Given the description of an element on the screen output the (x, y) to click on. 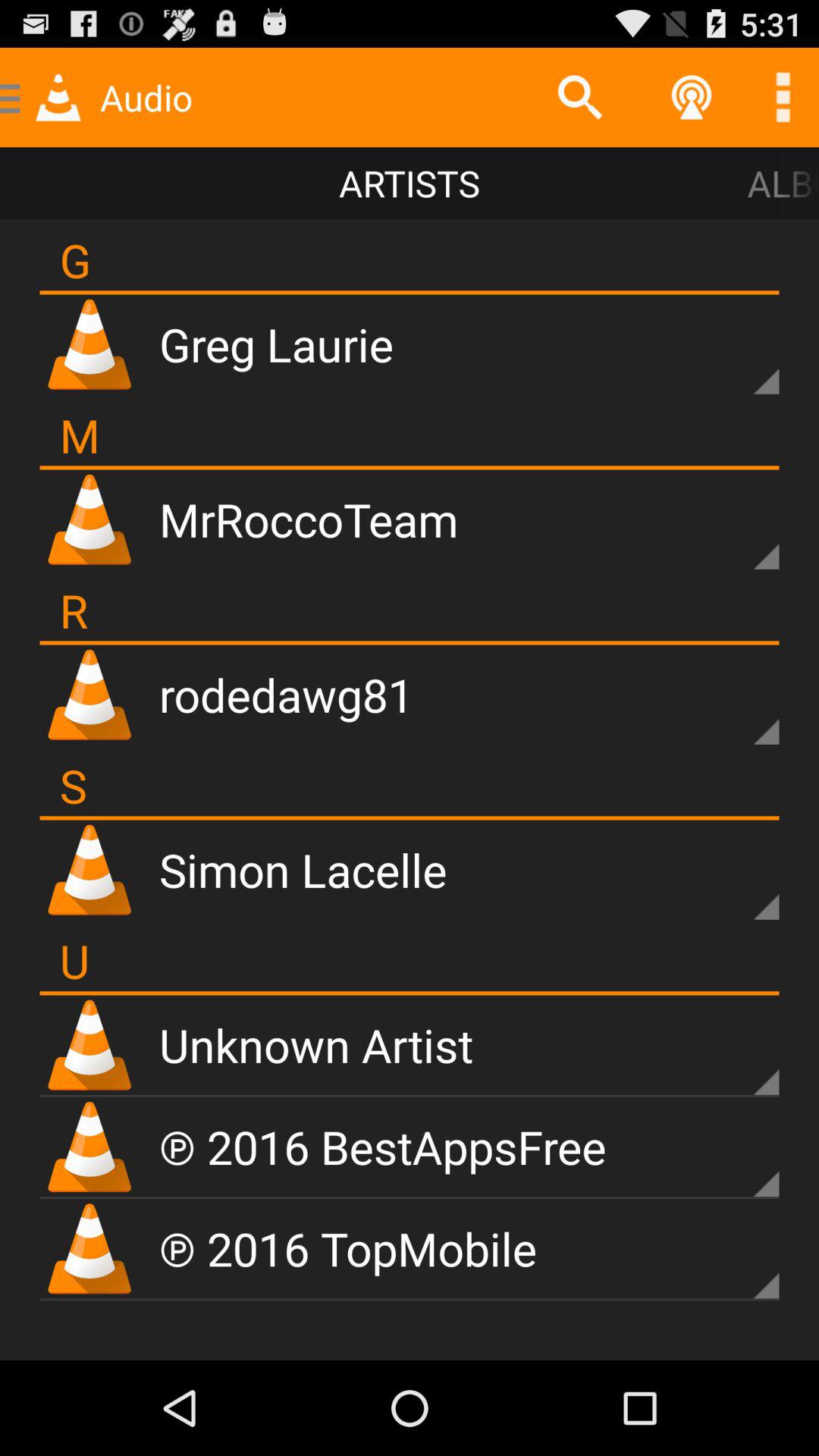
see drop down menu (740, 1157)
